Given the description of an element on the screen output the (x, y) to click on. 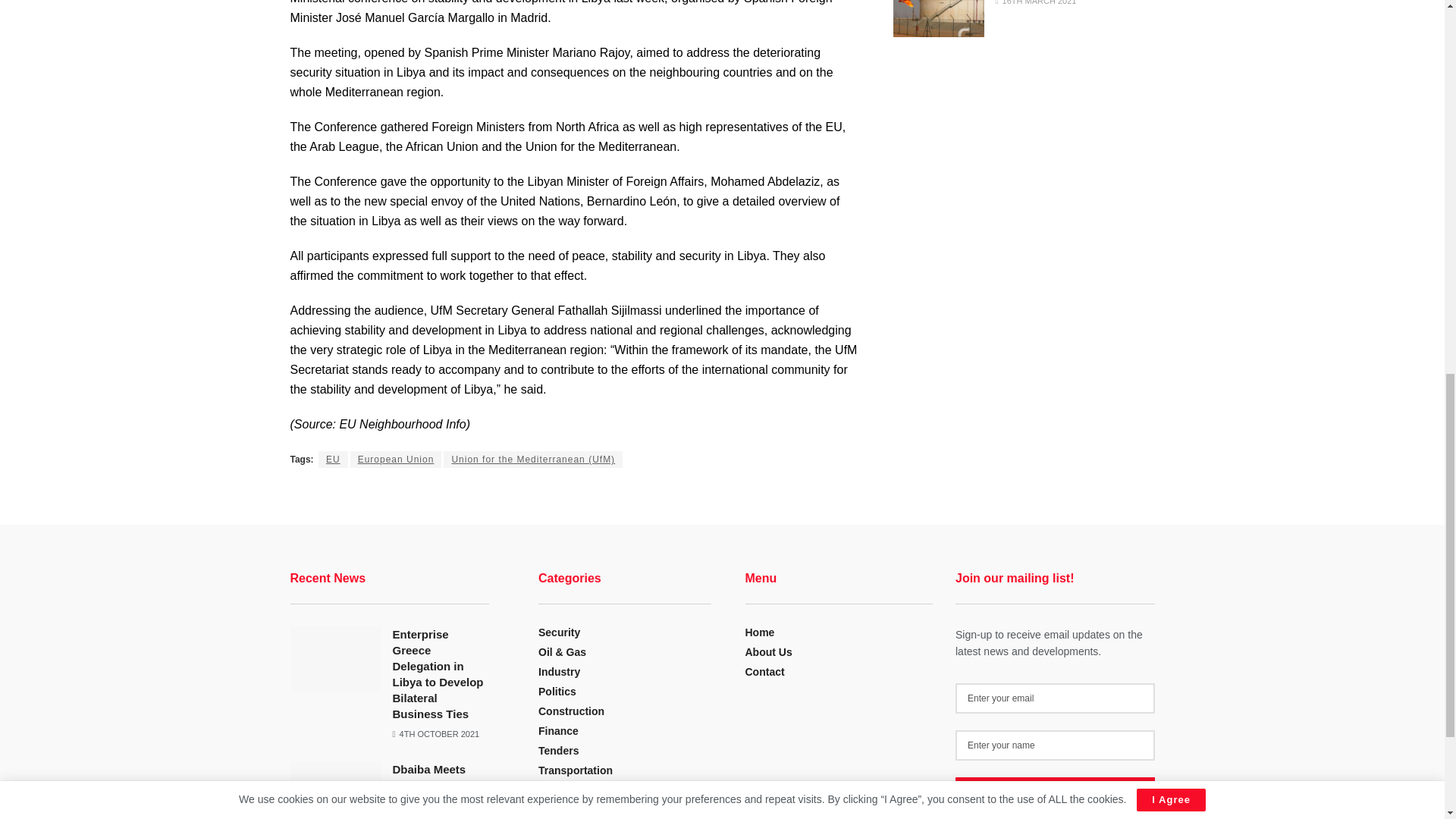
European Union (396, 459)
Enter your name (1054, 745)
Subscribe (1054, 792)
Enter your email (1054, 698)
EU (332, 459)
